Given the description of an element on the screen output the (x, y) to click on. 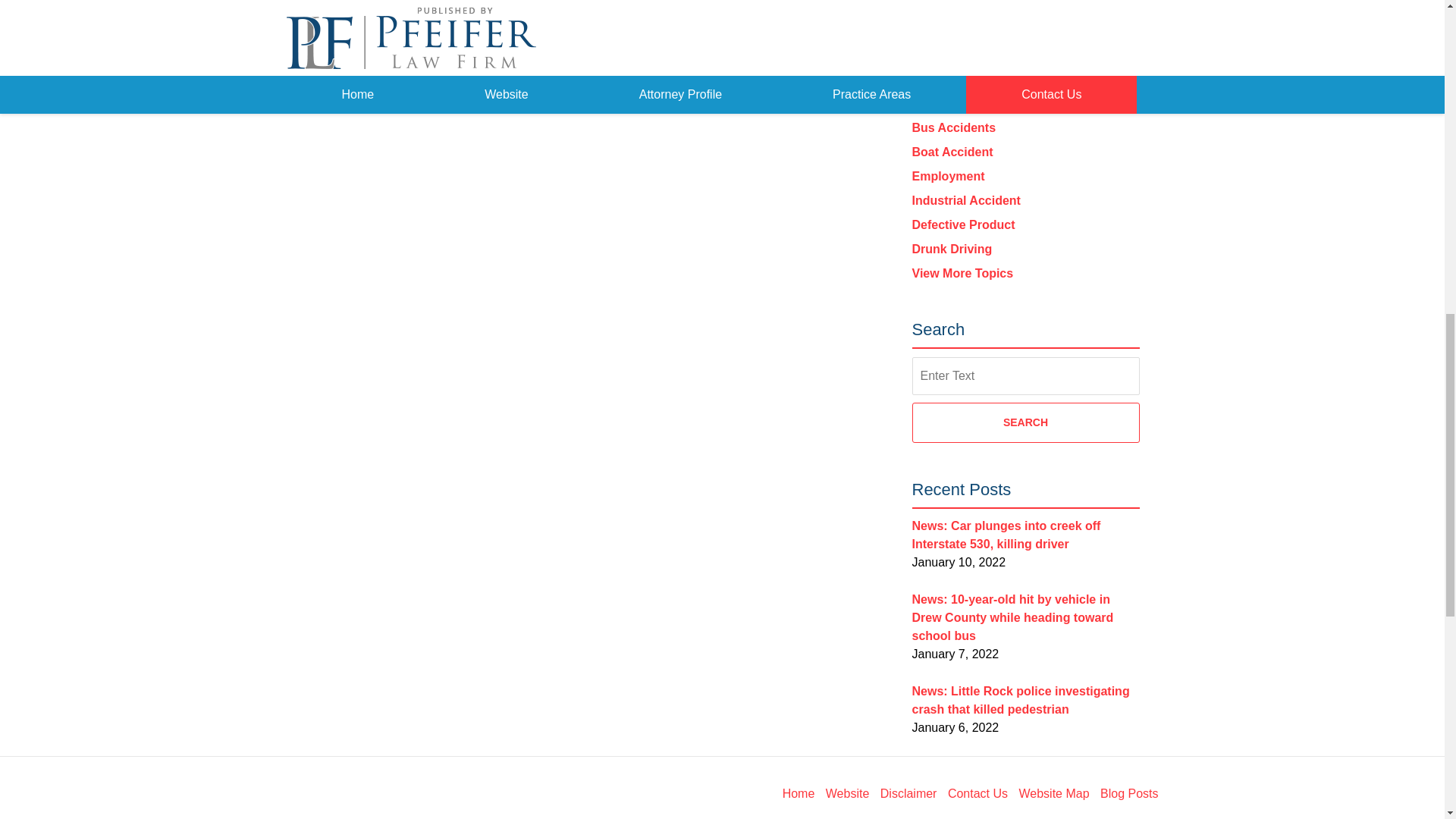
Truck Accidents (957, 6)
Pedestrian Accident (969, 54)
Safety Tips (943, 103)
Boat Accident (951, 151)
Employment (947, 175)
Industrial Accident (965, 200)
Defective Product (962, 224)
Bus Accidents (953, 127)
View More Topics (962, 273)
